Given the description of an element on the screen output the (x, y) to click on. 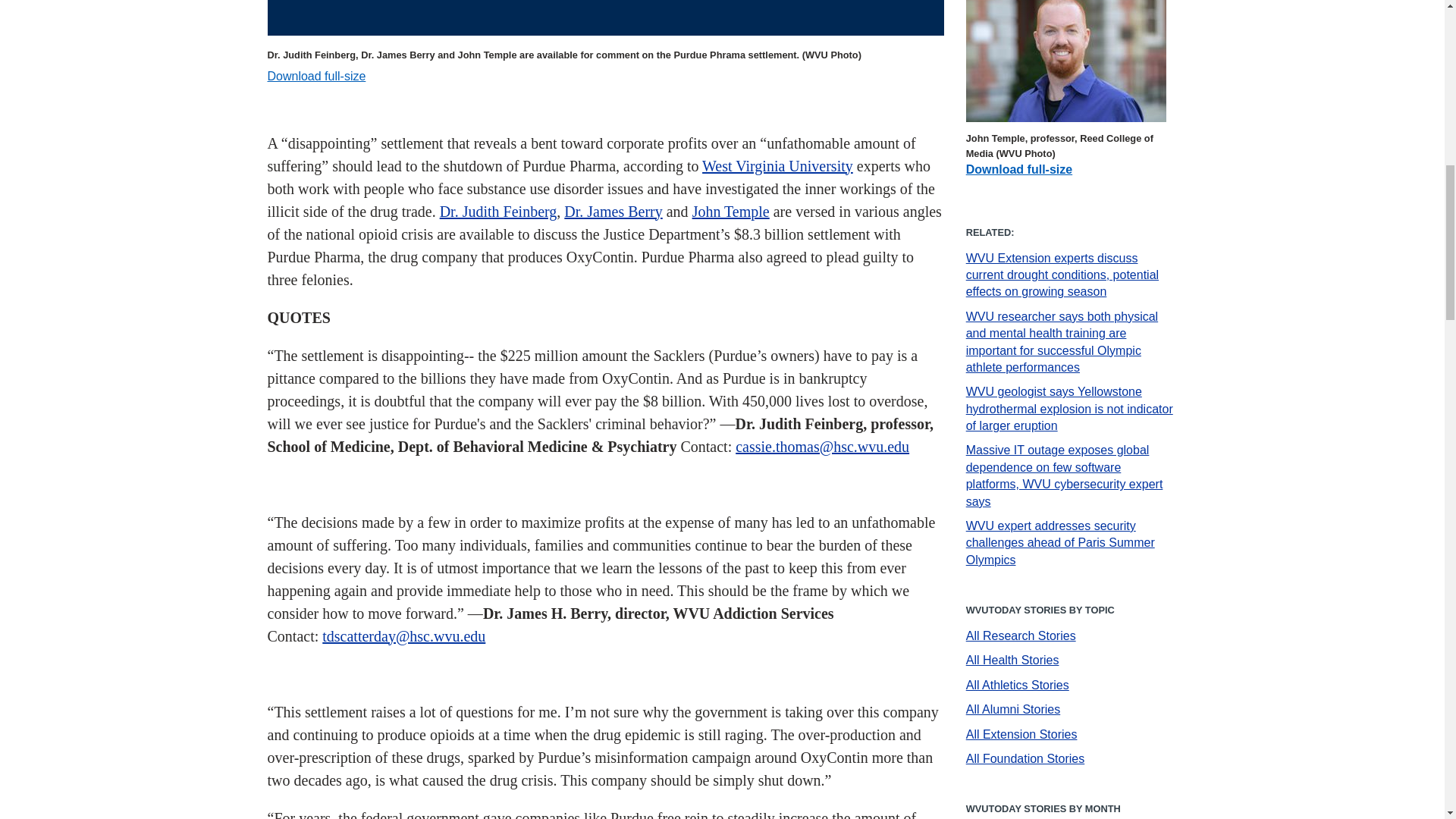
Dr. James Berry (613, 211)
Download full-size (315, 75)
West Virginia University (777, 166)
Dr. Judith Feinberg (498, 211)
John Temple (731, 211)
